Given the description of an element on the screen output the (x, y) to click on. 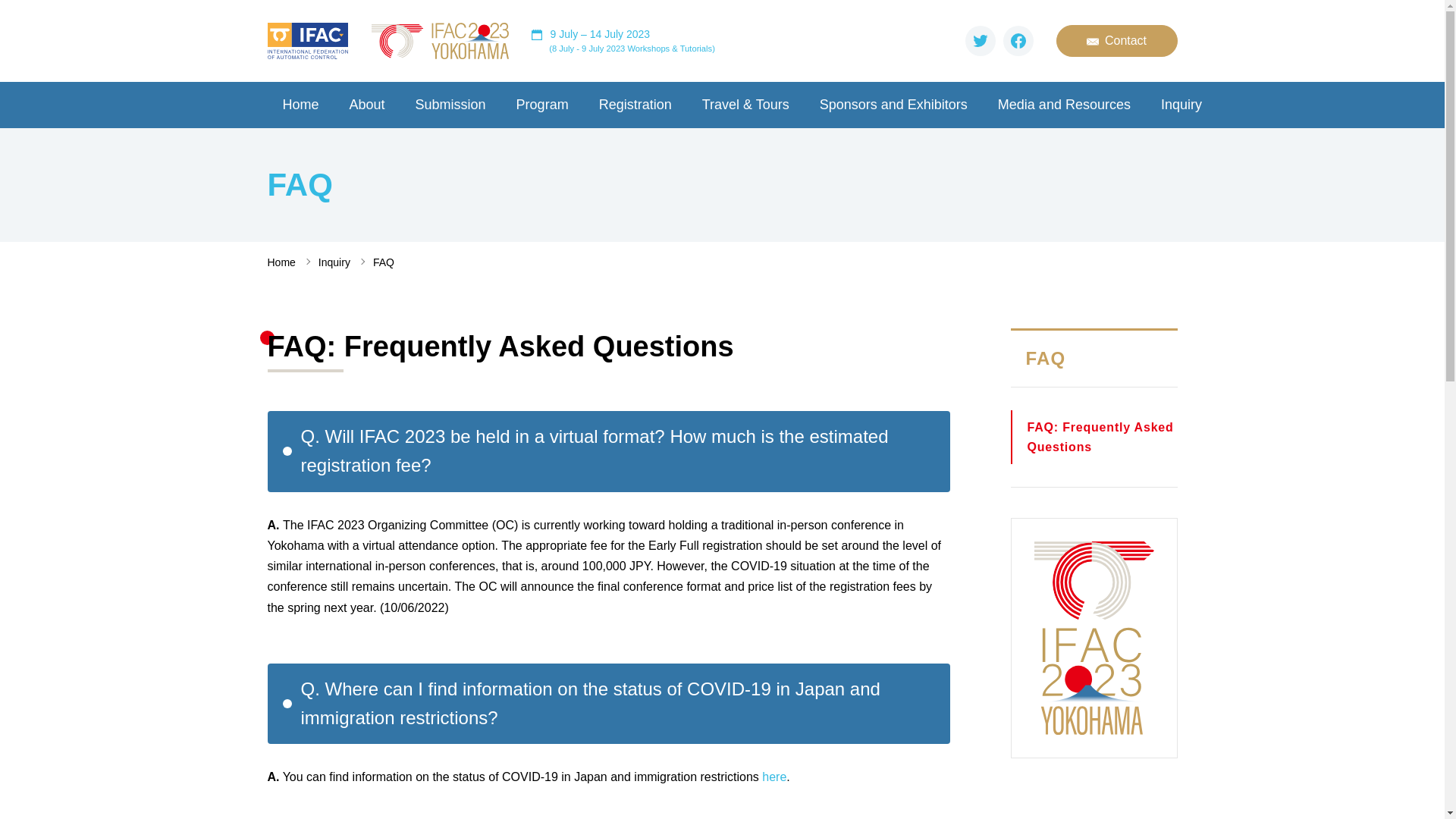
Contact (1115, 40)
Submission (450, 104)
About (367, 104)
Home (299, 104)
Program (541, 104)
